Given the description of an element on the screen output the (x, y) to click on. 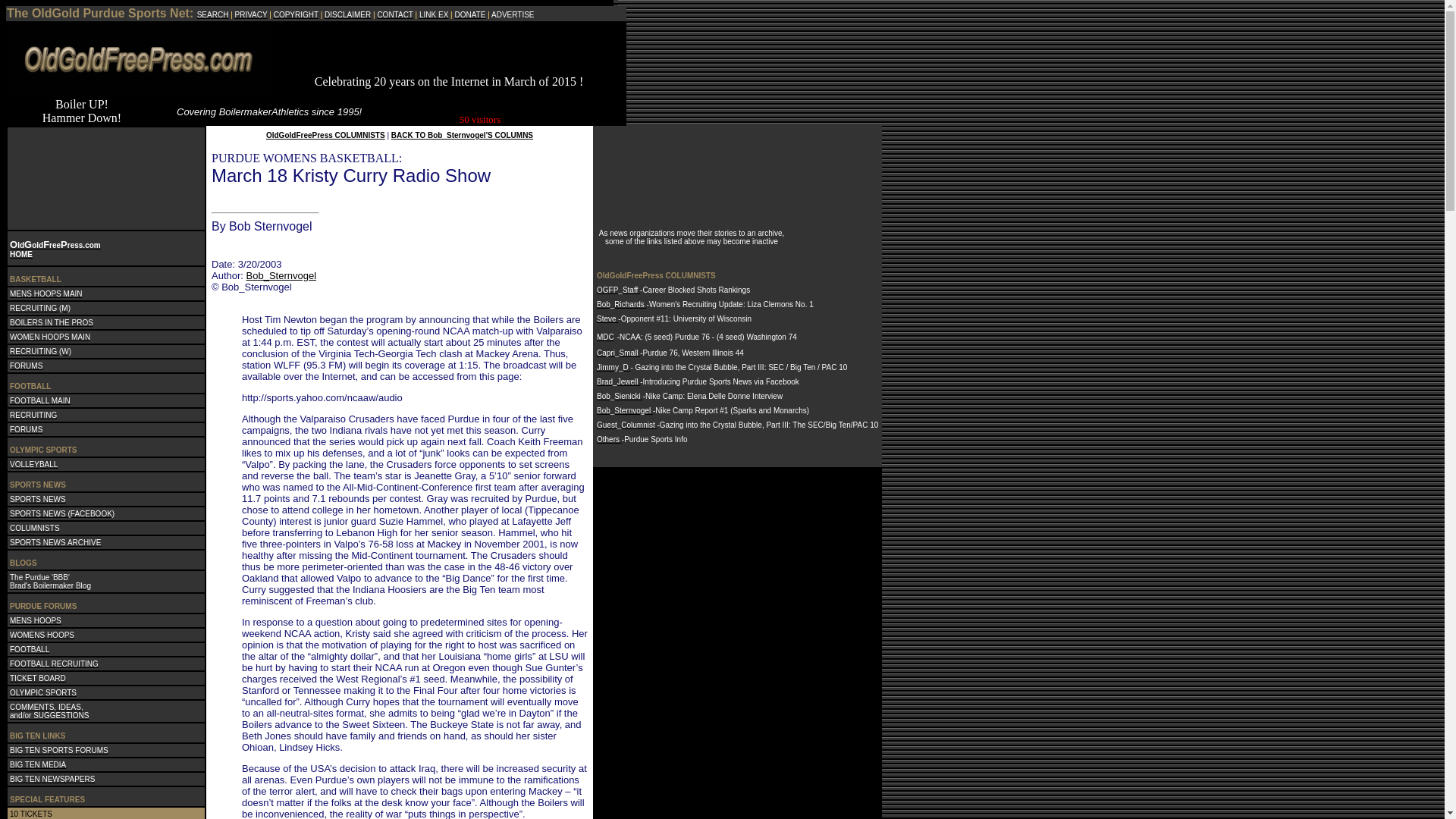
FOOTBALL MAIN (39, 399)
COPYRIGHT (295, 14)
BOILERS IN THE PROS (51, 320)
SPORTS NEWS (37, 497)
SPORTS NEWS ARCHIVE (55, 540)
VOLLEYBALL (34, 462)
DONATE (469, 14)
Advertisement (448, 52)
Advertisement (57, 176)
FOOTBALL (29, 647)
